Given the description of an element on the screen output the (x, y) to click on. 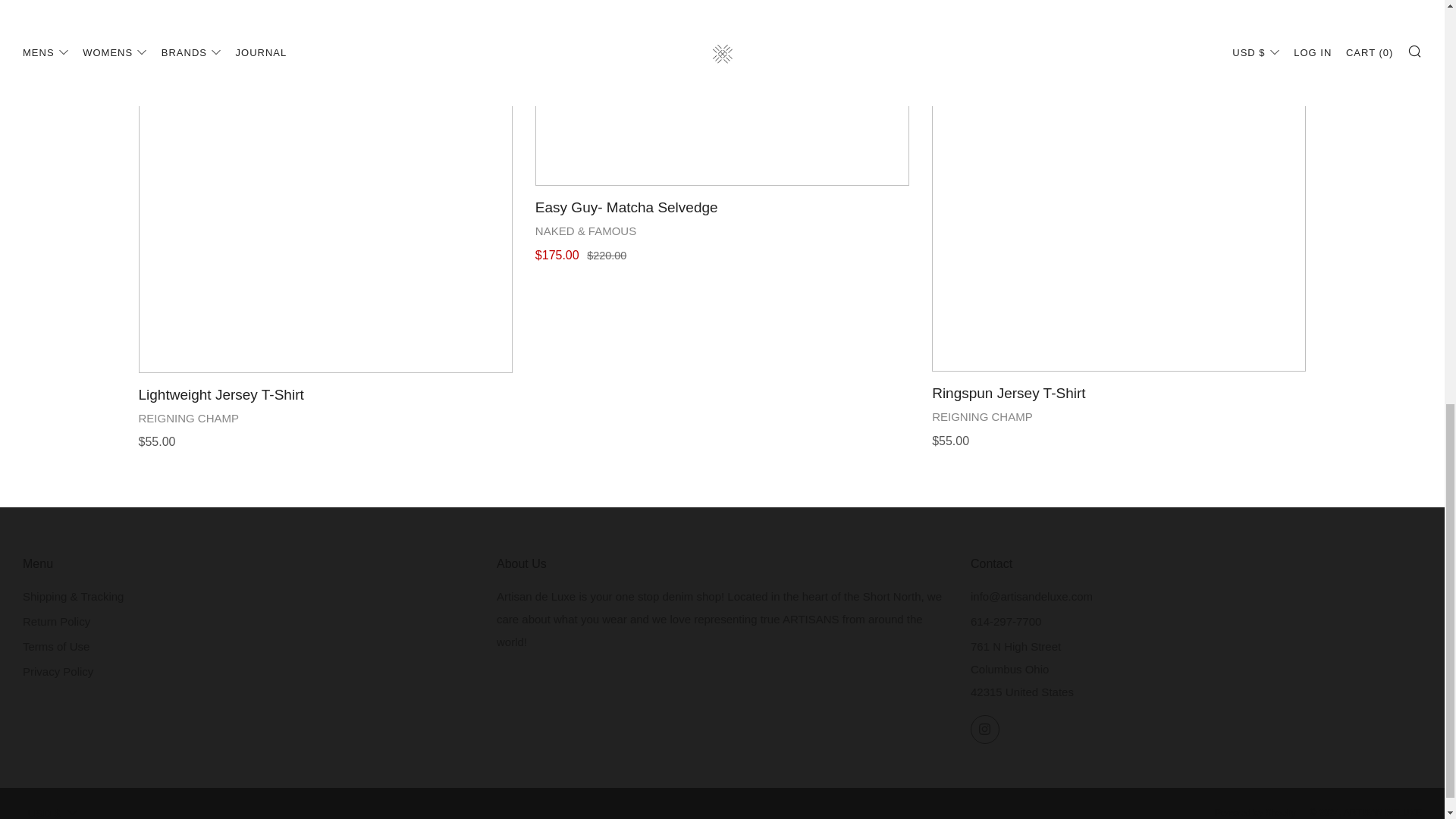
Easy Guy- Matcha Selvedge (721, 92)
Lightweight Jersey T-Shirt (325, 415)
Ringspun Jersey T-Shirt (1118, 413)
Easy Guy- Matcha Selvedge (721, 227)
